Given the description of an element on the screen output the (x, y) to click on. 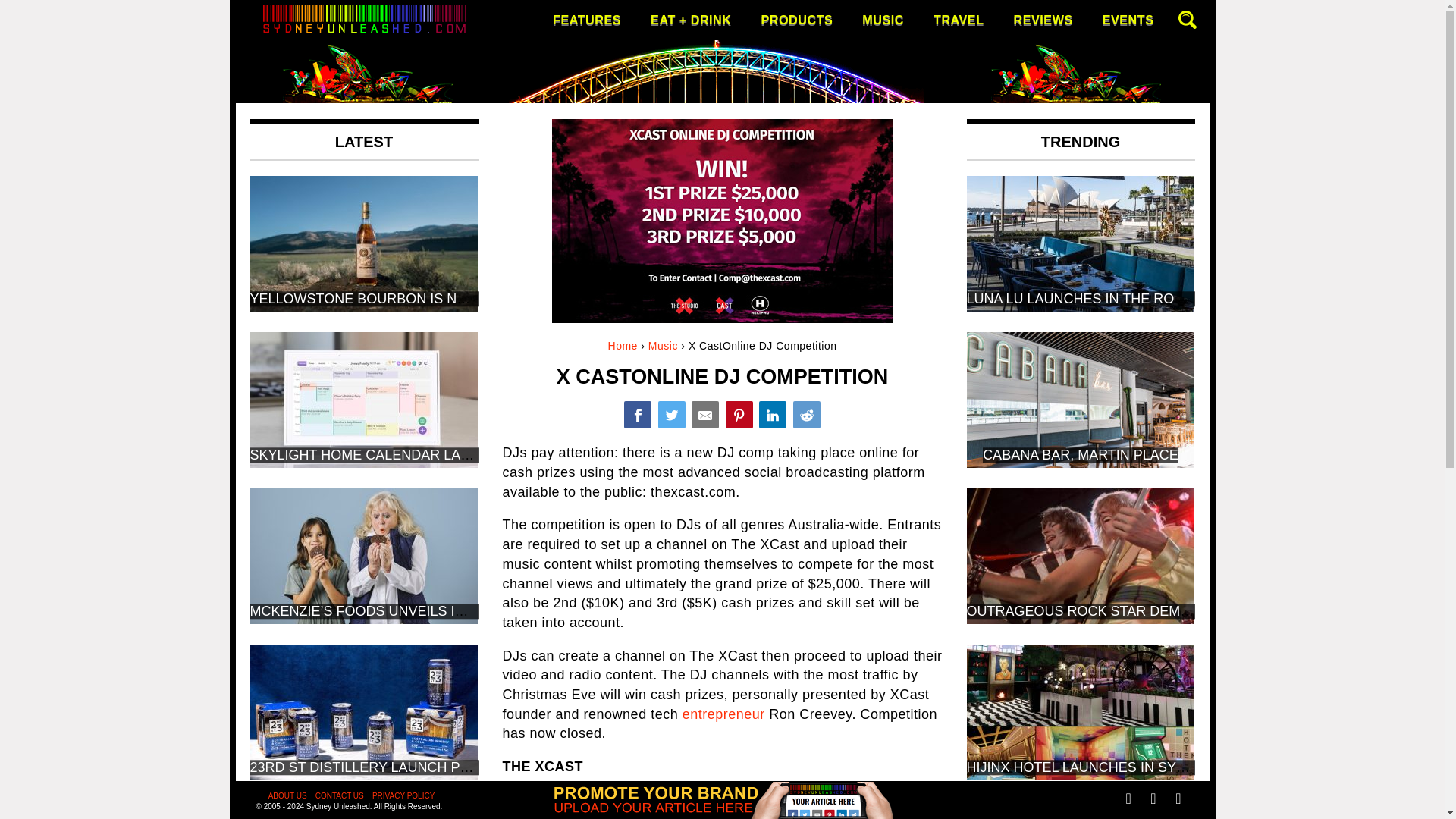
PRODUCTS (796, 19)
X CastOnline DJ Competition (637, 414)
YELLOWSTONE BOURBON IS NOW AVAILABLE IN AUSTRALIA (450, 298)
LUNA LU LAUNCHES IN THE ROCKS (1084, 298)
Home (622, 345)
Music (662, 345)
Pinterest (738, 414)
Sydney Unleashed (320, 149)
FEATURES (586, 19)
Advertisement (722, 805)
entrepreneur (723, 713)
REVIEWS (1043, 19)
EVENTS (1128, 19)
MUSIC (882, 19)
Upload Your Featured Post (721, 812)
